Given the description of an element on the screen output the (x, y) to click on. 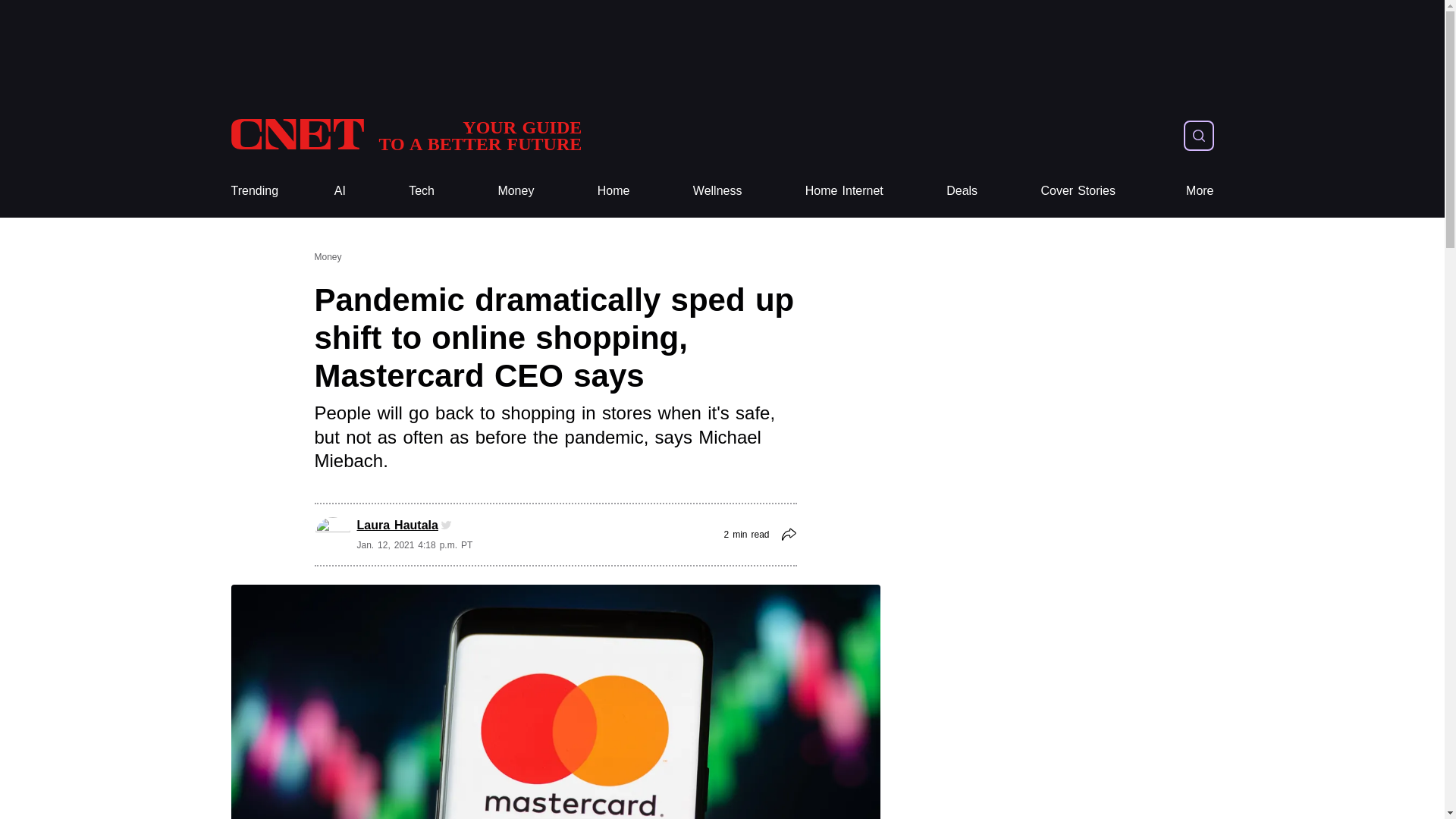
Home (613, 190)
Tech (421, 190)
Home (405, 135)
Money (613, 190)
CNET (515, 190)
Home Internet (405, 135)
Cover Stories (844, 190)
More (1078, 190)
Tech (1199, 190)
